Given the description of an element on the screen output the (x, y) to click on. 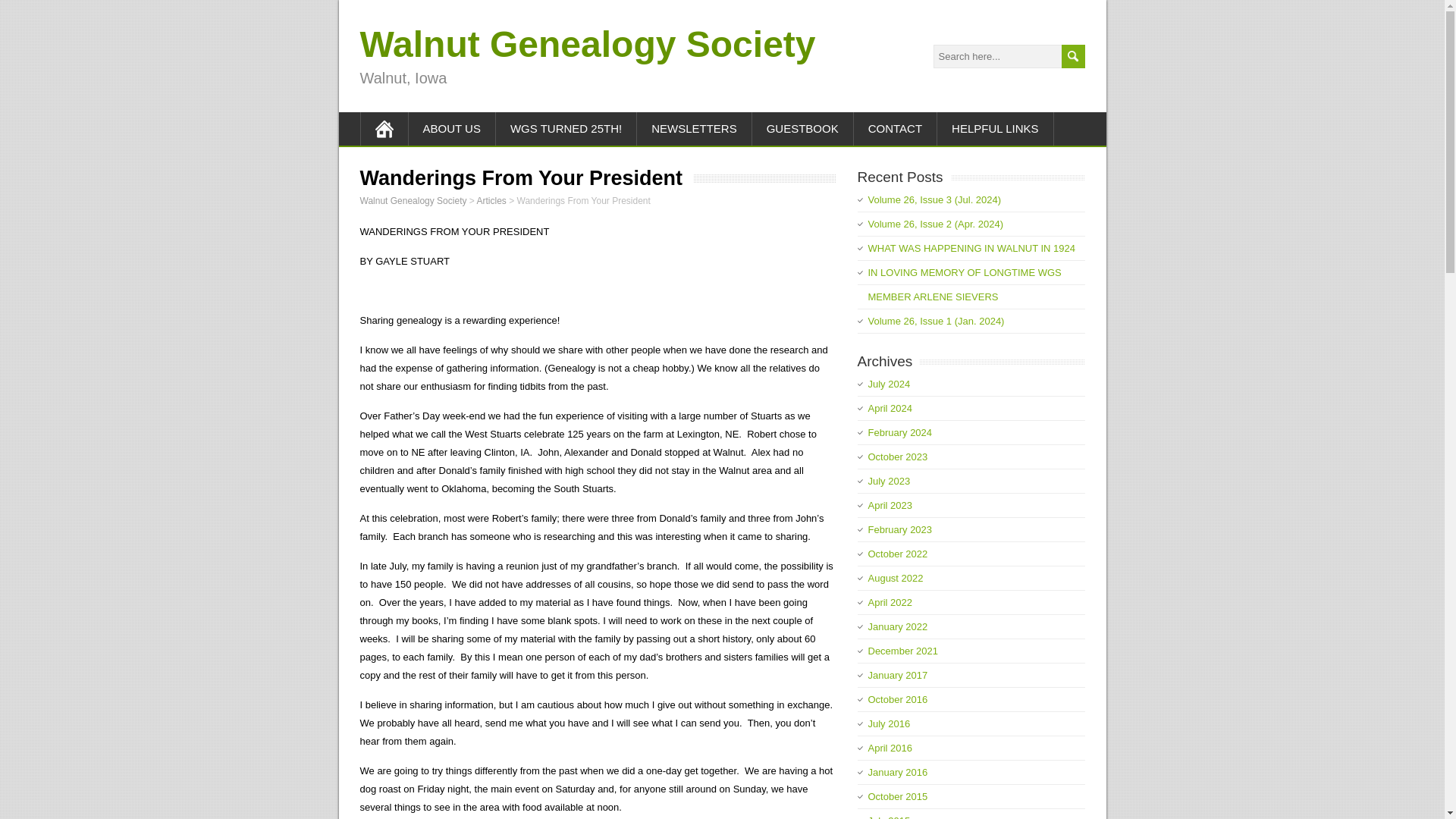
October 2015 (897, 796)
April 2016 (889, 747)
July 2015 (888, 816)
October 2016 (897, 699)
February 2024 (899, 432)
July 2023 (888, 480)
Articles (490, 200)
NEWSLETTERS (694, 128)
April 2024 (889, 408)
April 2023 (889, 505)
ABOUT US (451, 128)
Walnut Genealogy Society (587, 44)
January 2017 (897, 674)
January 2022 (897, 626)
August 2022 (895, 577)
